Given the description of an element on the screen output the (x, y) to click on. 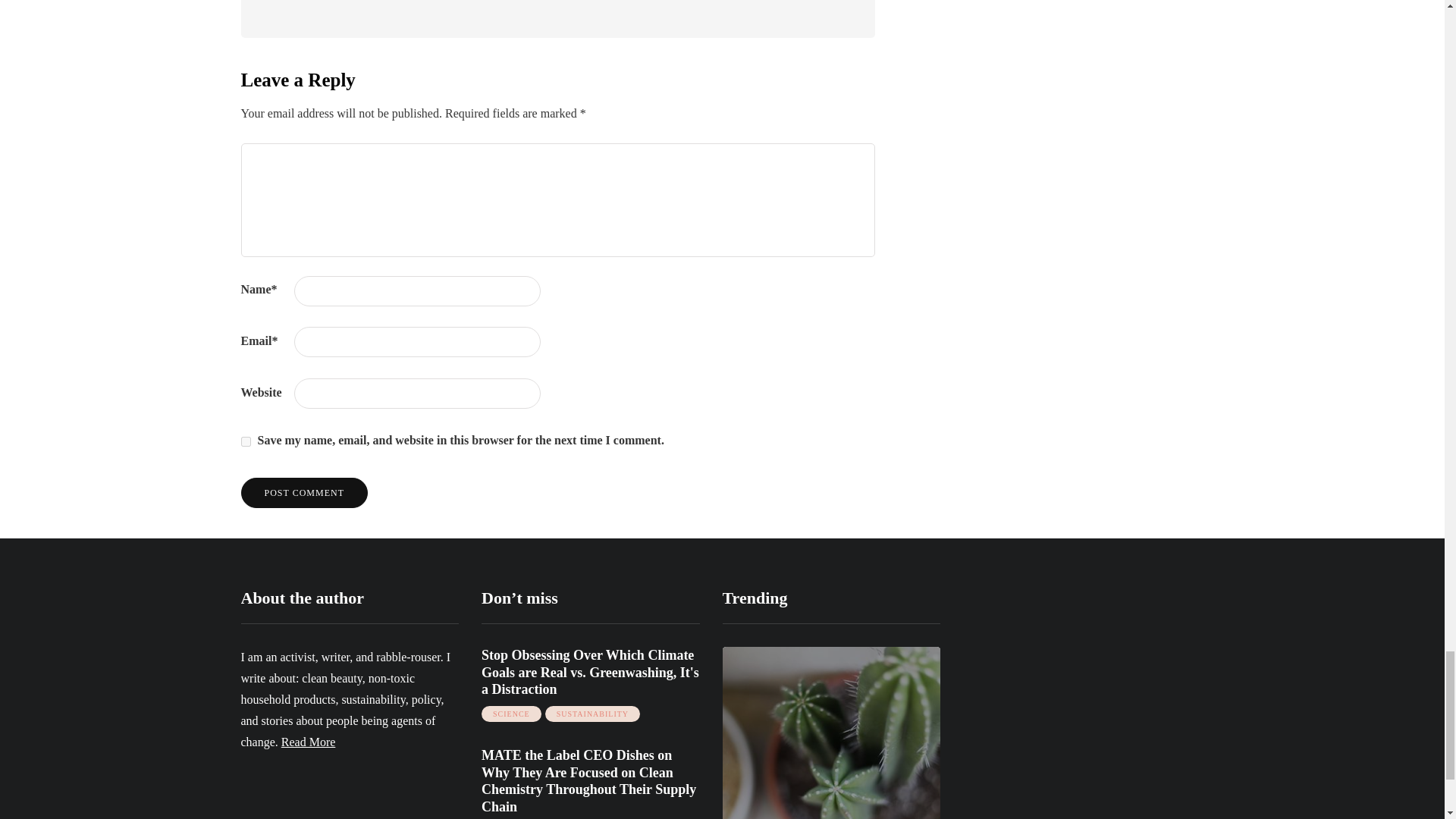
Post comment (304, 492)
yes (245, 441)
